Given the description of an element on the screen output the (x, y) to click on. 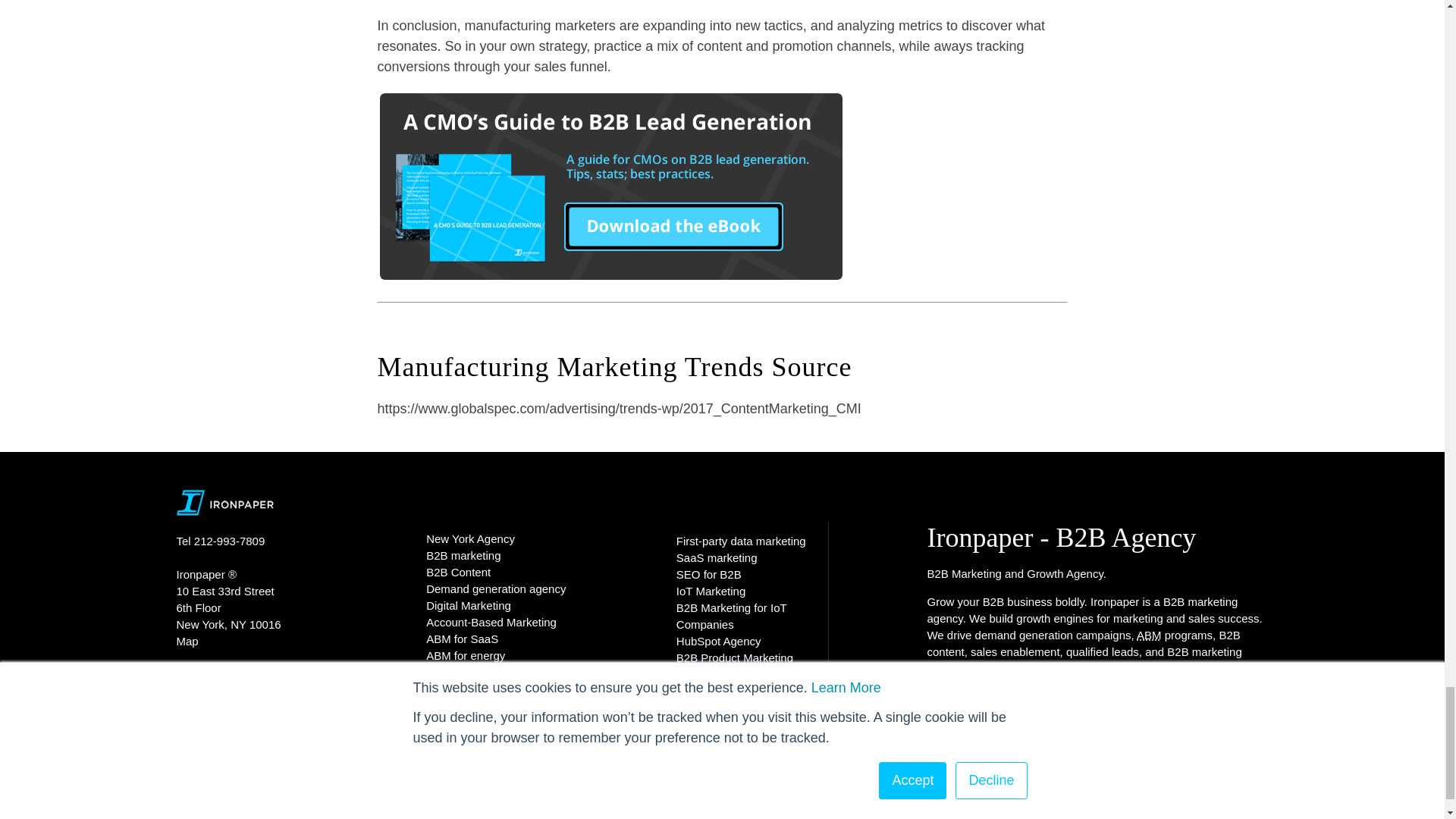
Account-based marketing (1149, 634)
